Given the description of an element on the screen output the (x, y) to click on. 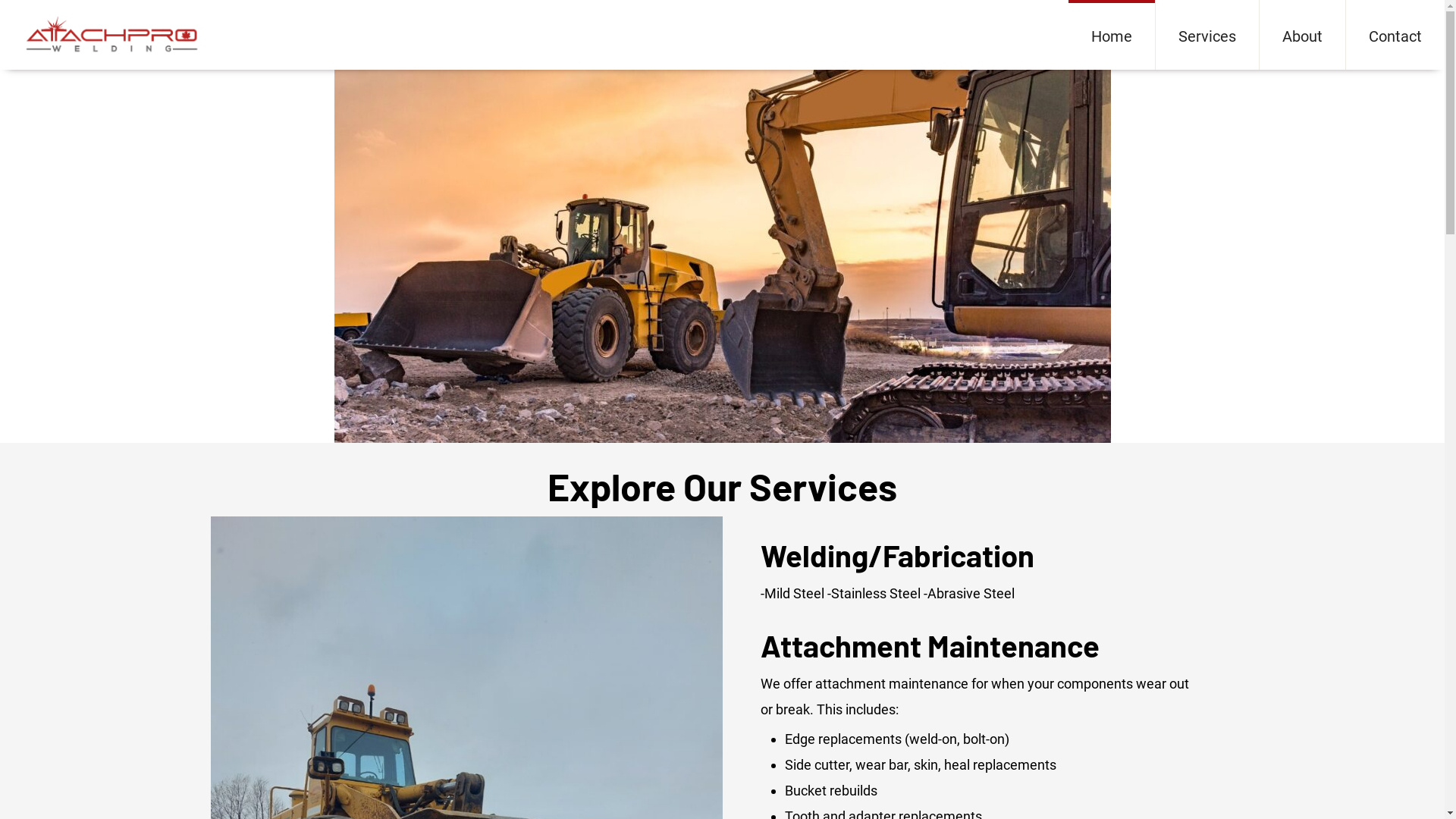
Contact Element type: text (1395, 34)
Home Element type: text (1111, 34)
Skip to primary navigation Element type: text (0, 0)
Services Element type: text (1206, 34)
About Element type: text (1302, 34)
